Given the description of an element on the screen output the (x, y) to click on. 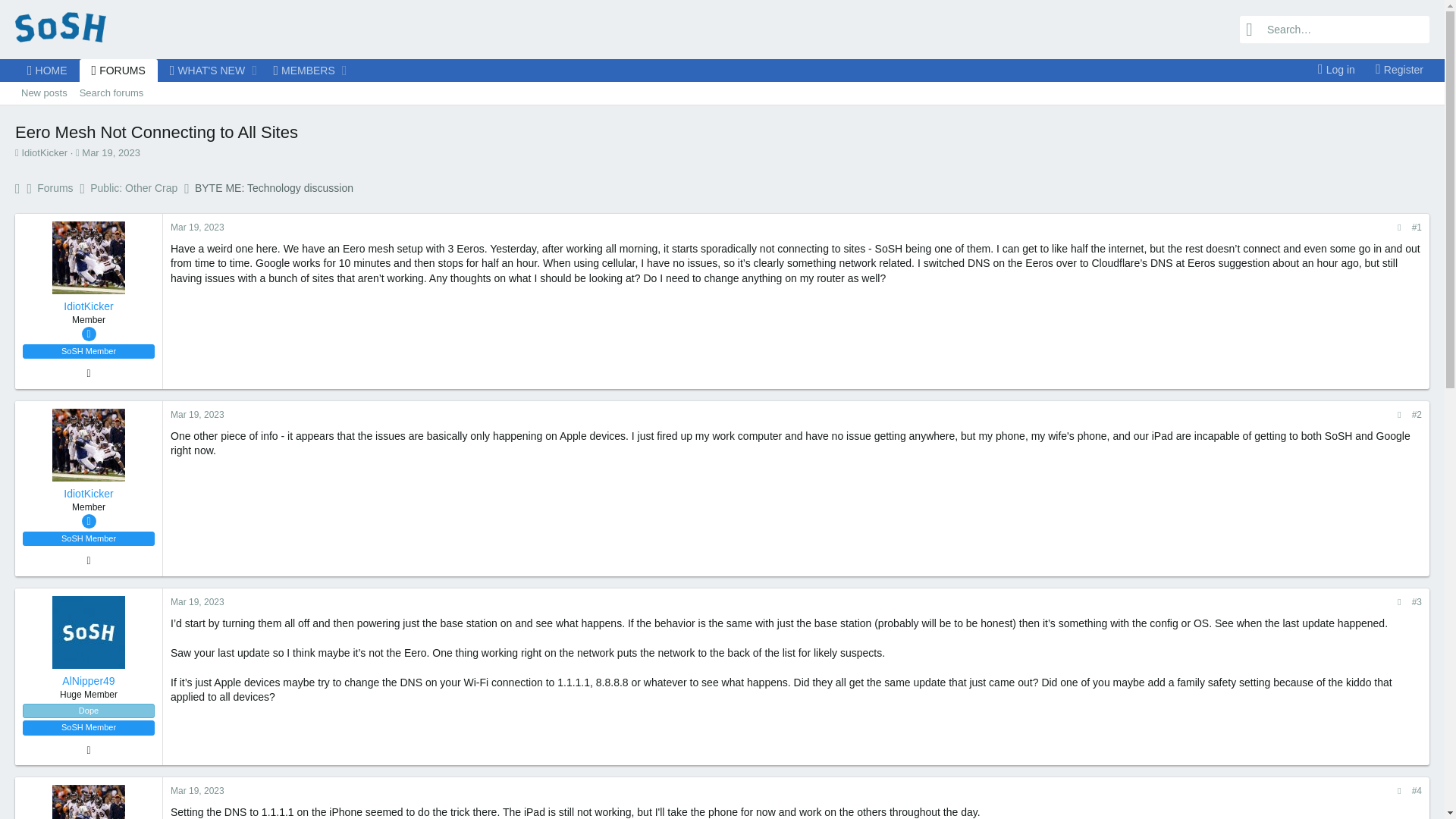
Original poster (88, 333)
Mar 19, 2023 at 10:34 AM (197, 226)
HOME (182, 69)
FORUMS (47, 70)
Thread starter (118, 70)
Register (16, 153)
Start date (1395, 70)
MEMBERS (77, 153)
Log in (298, 70)
Mar 19, 2023 at 10:34 AM (1332, 70)
Original poster (110, 152)
WHAT'S NEW (88, 521)
